Given the description of an element on the screen output the (x, y) to click on. 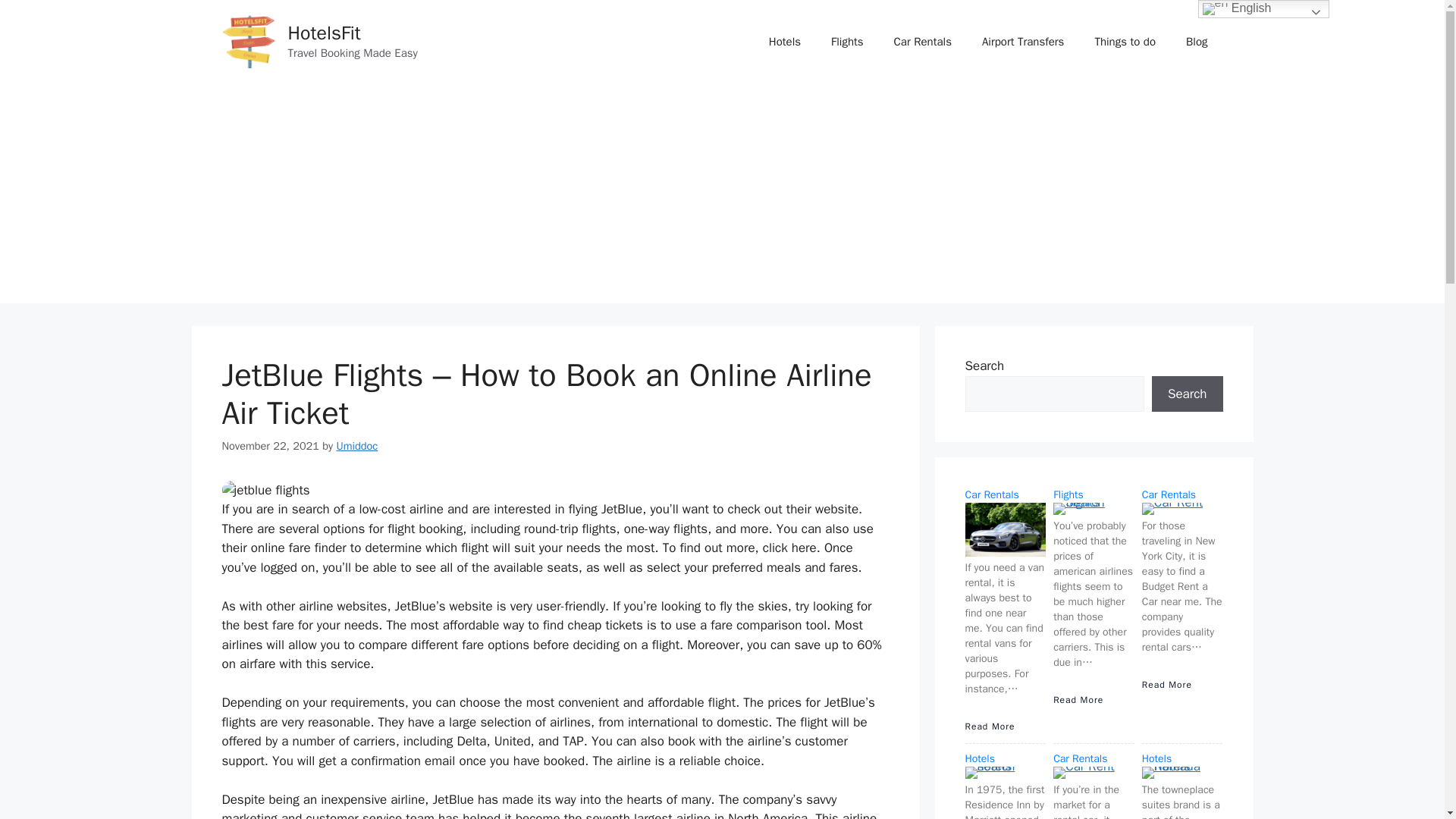
Search (1187, 393)
Airport Transfers (1022, 41)
Flights (847, 41)
Hotels (784, 41)
Hotels (978, 758)
Blog (1196, 41)
Search Hotel Deals (784, 41)
Search Flight Deals (847, 41)
Umiddoc (356, 445)
Read More (1166, 684)
